Given the description of an element on the screen output the (x, y) to click on. 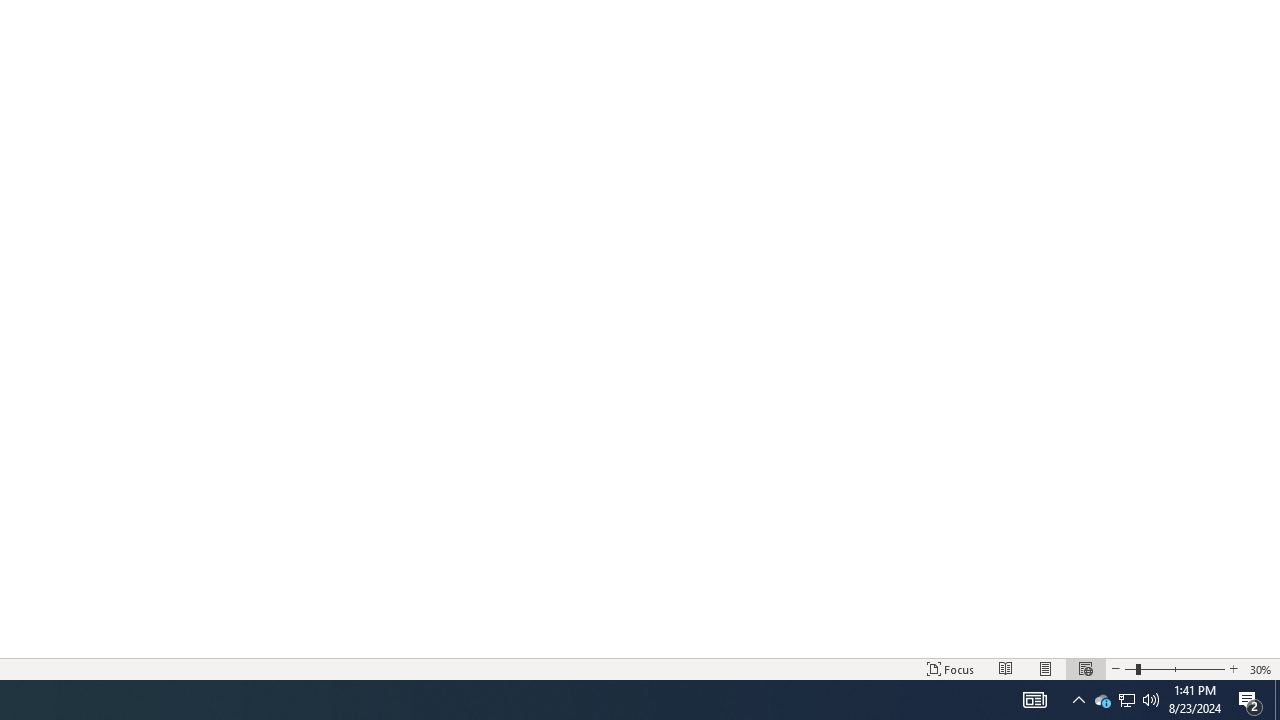
Zoom 30% (1261, 668)
